Given the description of an element on the screen output the (x, y) to click on. 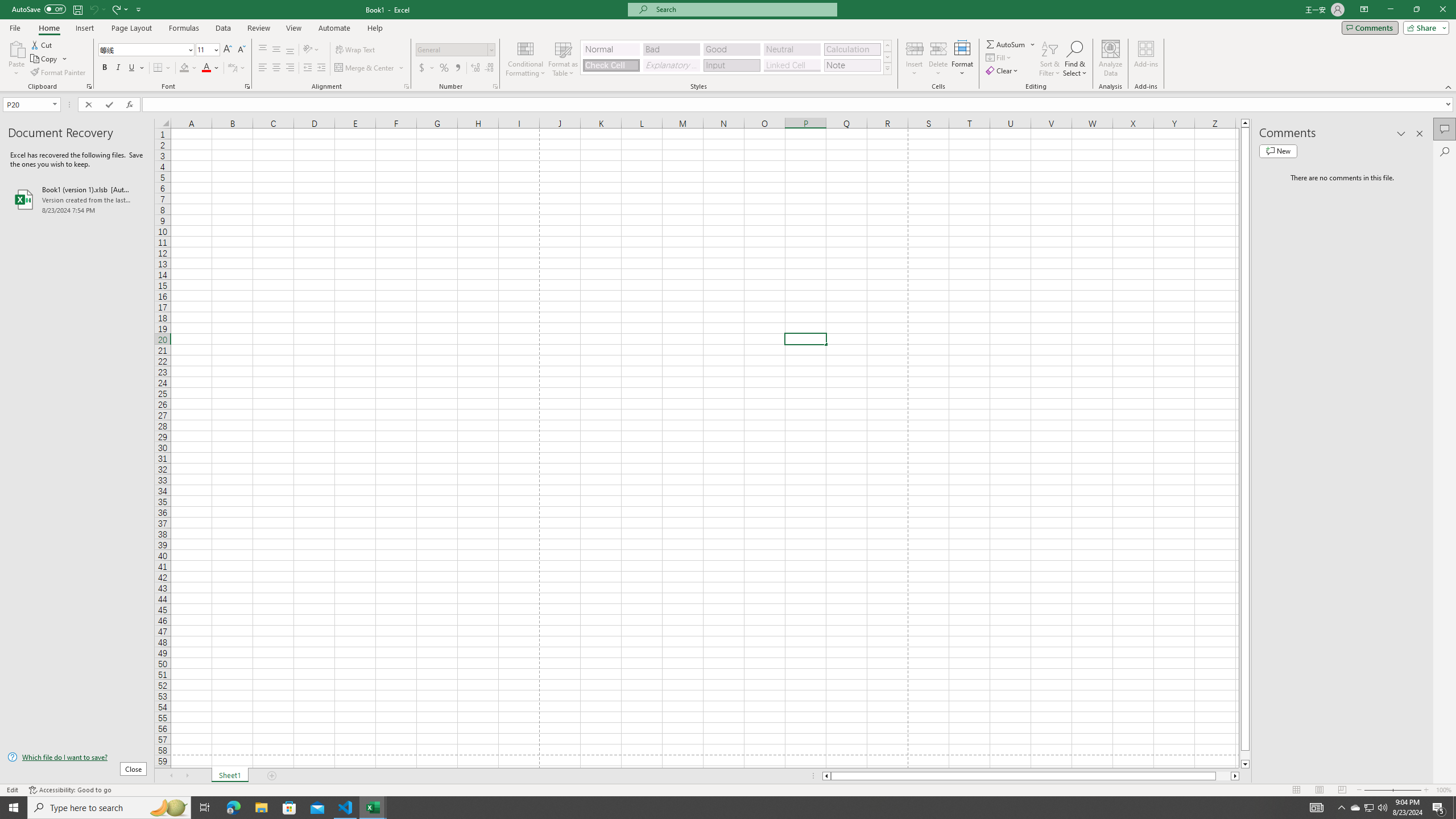
Task Pane Options (1400, 133)
Page down (1245, 755)
Fill Color (188, 67)
Copy (45, 58)
Insert Cells (914, 48)
Column right (1235, 775)
Bottom Border (157, 67)
File Tab (15, 27)
Home (48, 28)
Sheet1 (229, 775)
Search (1444, 151)
Class: NetUIImage (887, 68)
Delete Cells... (938, 48)
Font Size (204, 49)
